Given the description of an element on the screen output the (x, y) to click on. 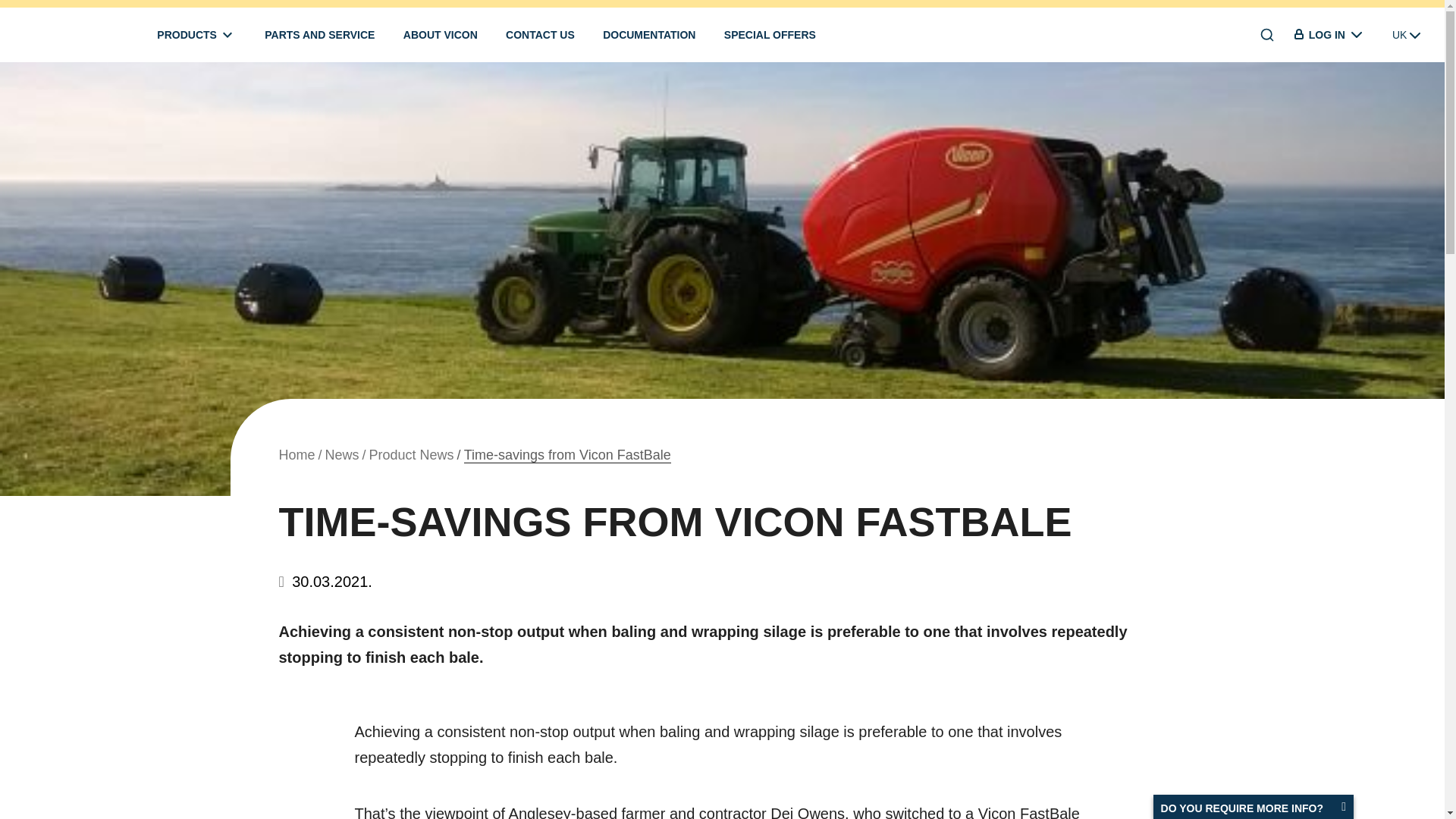
Vicon (46, 34)
Search (1267, 34)
PRODUCTS (196, 35)
